Given the description of an element on the screen output the (x, y) to click on. 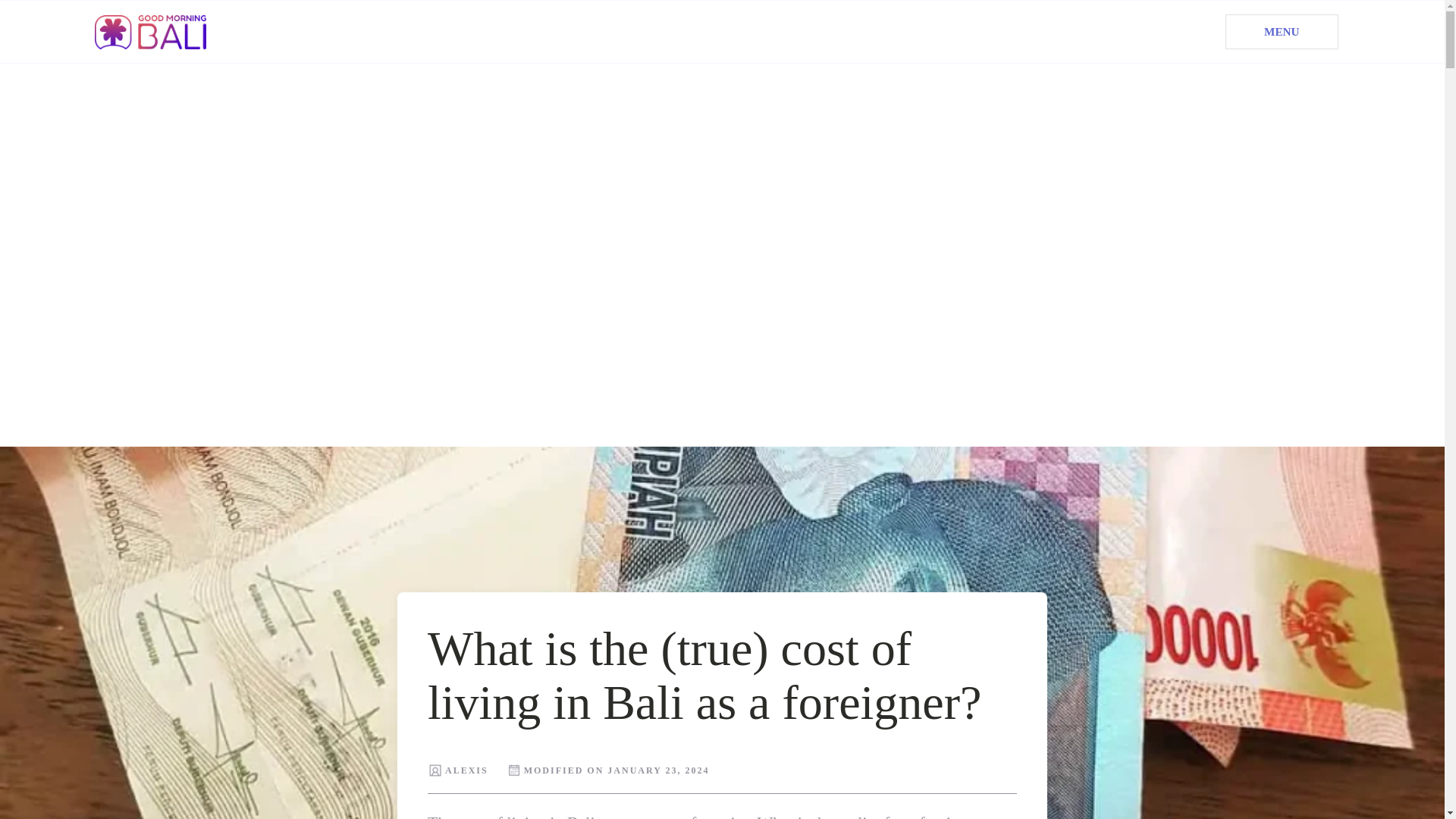
MENU (1281, 31)
